Given the description of an element on the screen output the (x, y) to click on. 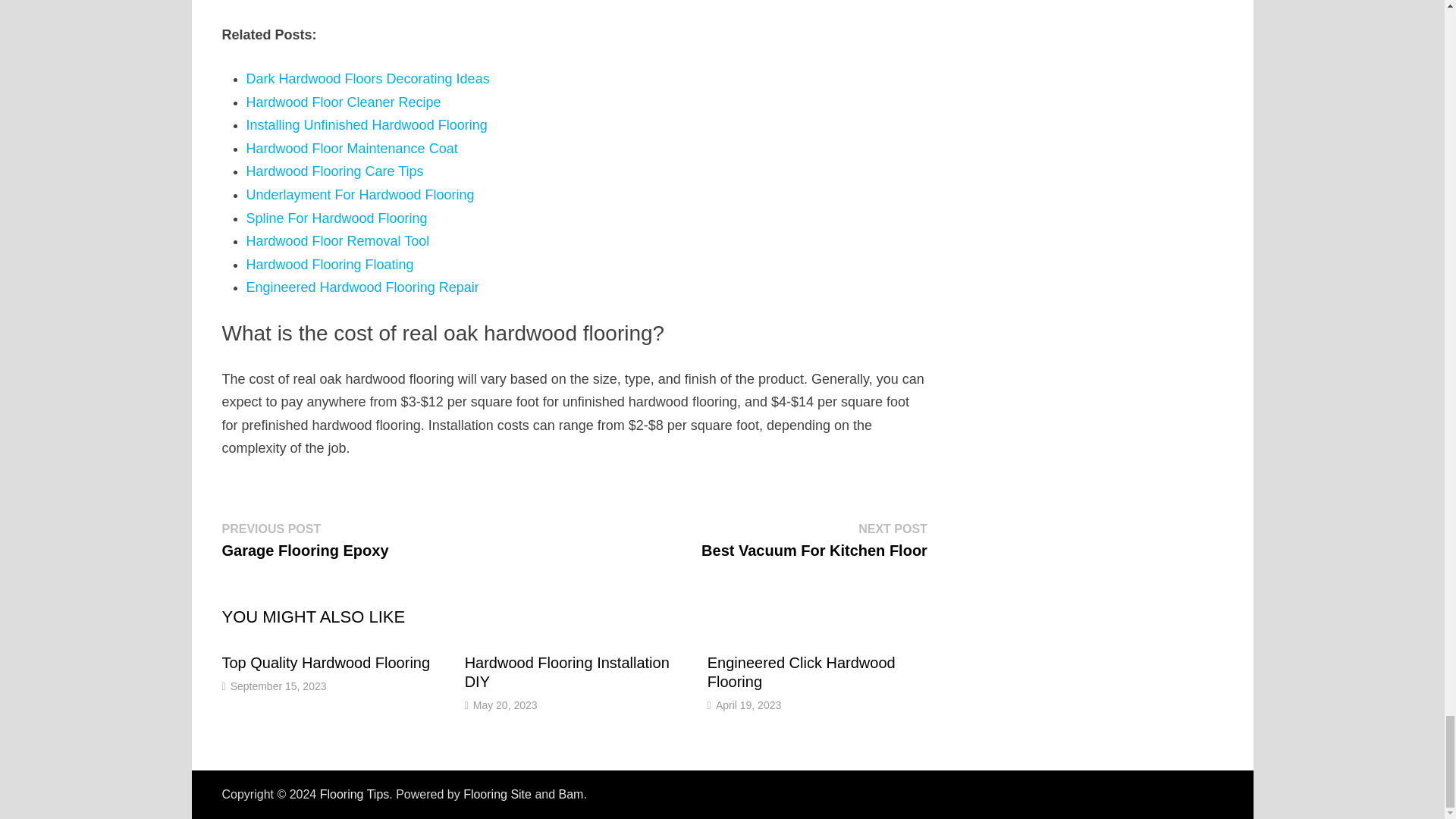
Hardwood Floor Removal Tool (337, 240)
Hardwood Floor Maintenance Coat (351, 148)
Hardwood Flooring Installation DIY (566, 672)
April 19, 2023 (748, 705)
May 20, 2023 (505, 705)
Engineered Hardwood Flooring Repair (304, 539)
Top Quality Hardwood Flooring (362, 287)
September 15, 2023 (325, 662)
Hardwood Flooring Care Tips (278, 686)
Top Quality Hardwood Flooring (334, 171)
Installing Unfinished Hardwood Flooring (325, 662)
Spline For Hardwood Flooring (366, 124)
Hardwood Flooring Installation DIY (336, 218)
